Given the description of an element on the screen output the (x, y) to click on. 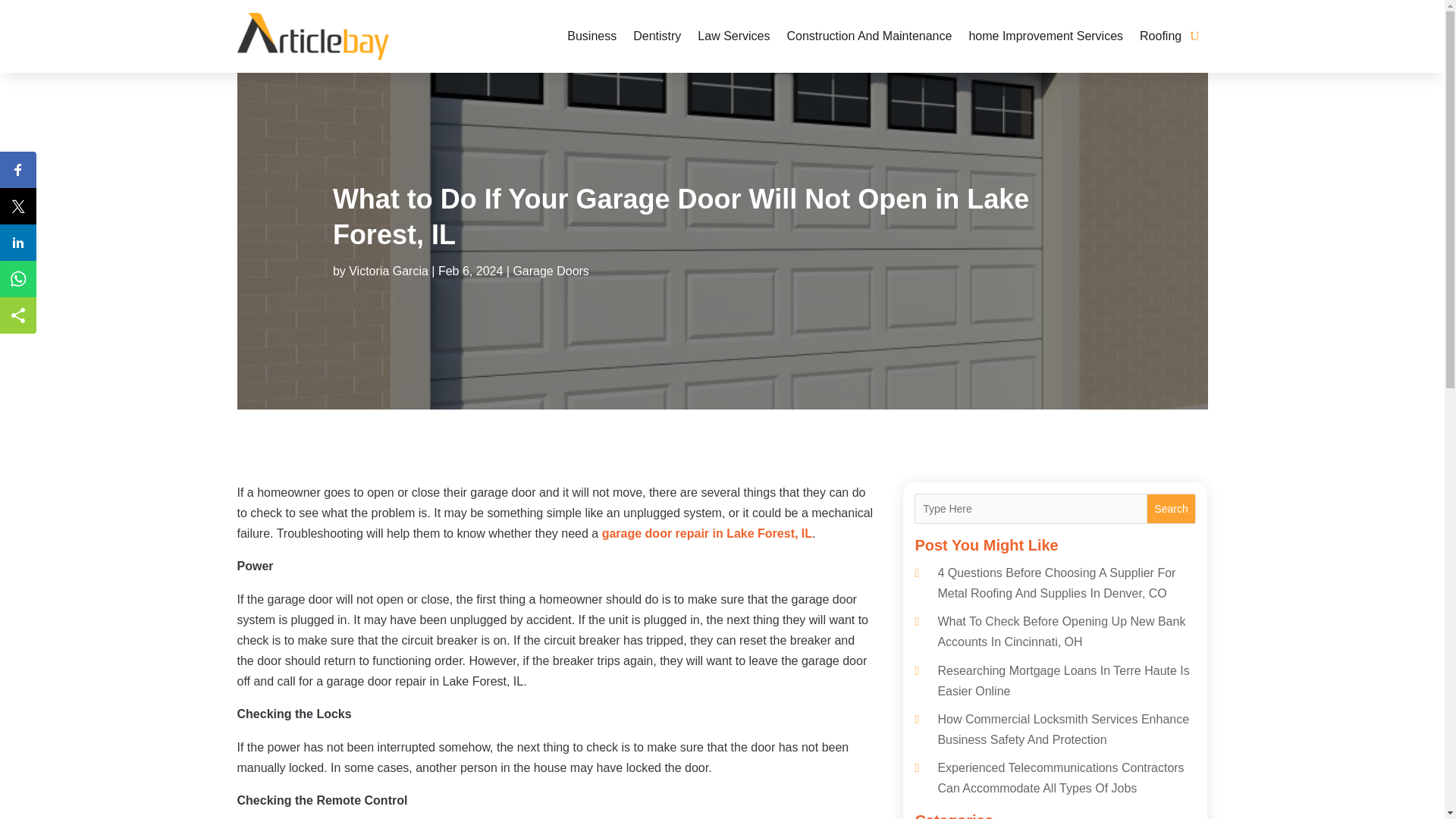
Posts by Victoria Garcia (388, 270)
Garage Doors (550, 270)
Search (1171, 508)
Construction And Maintenance (869, 36)
garage door repair in Lake Forest, IL (707, 533)
Victoria Garcia (388, 270)
Researching Mortgage Loans In Terre Haute Is Easier Online (1063, 680)
home Improvement Services (1045, 36)
Law Services (733, 36)
